Given the description of an element on the screen output the (x, y) to click on. 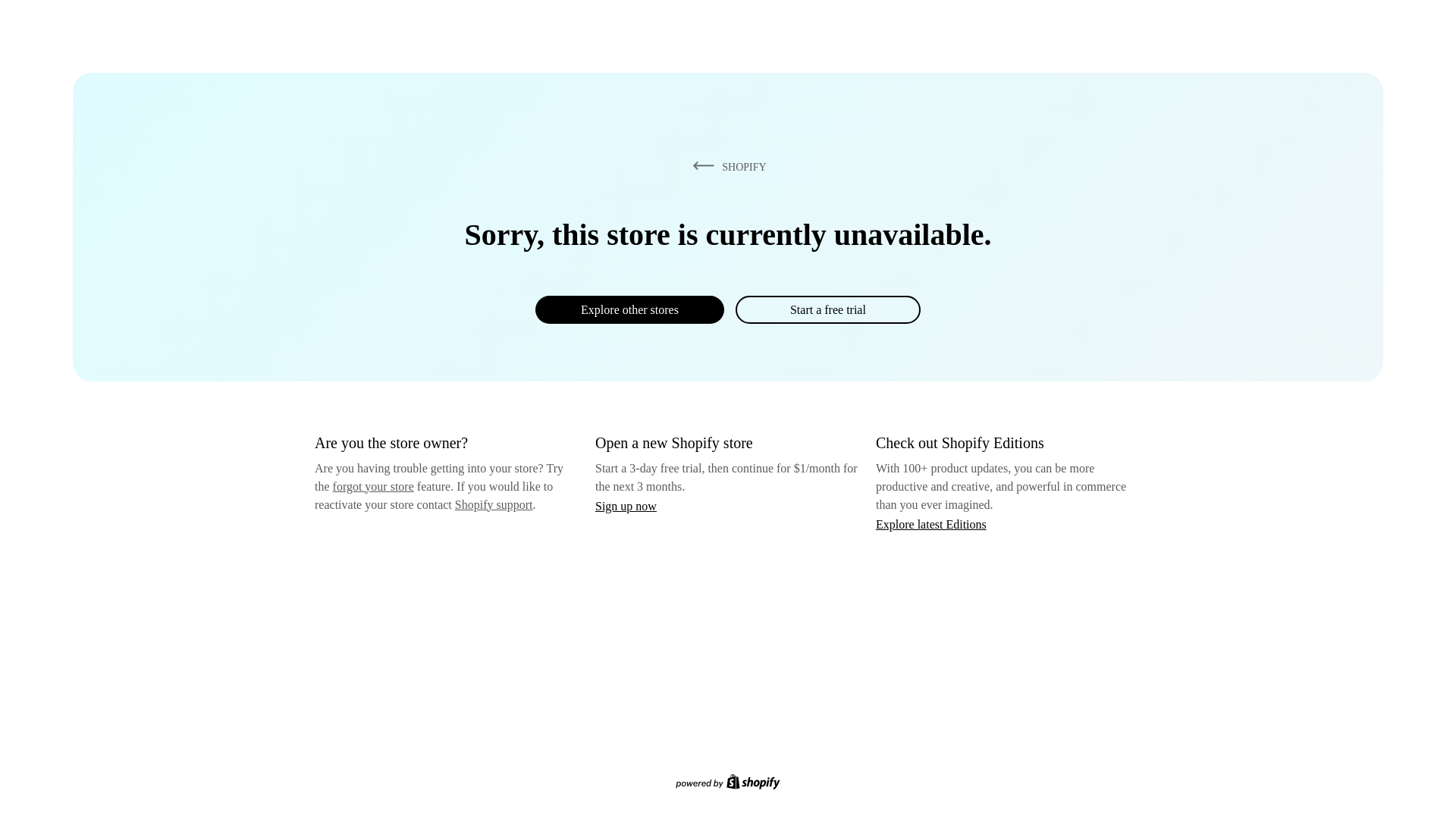
Start a free trial (827, 309)
Explore other stores (629, 309)
Sign up now (625, 505)
Explore latest Editions (931, 523)
forgot your store (373, 486)
Shopify support (493, 504)
SHOPIFY (726, 166)
